Given the description of an element on the screen output the (x, y) to click on. 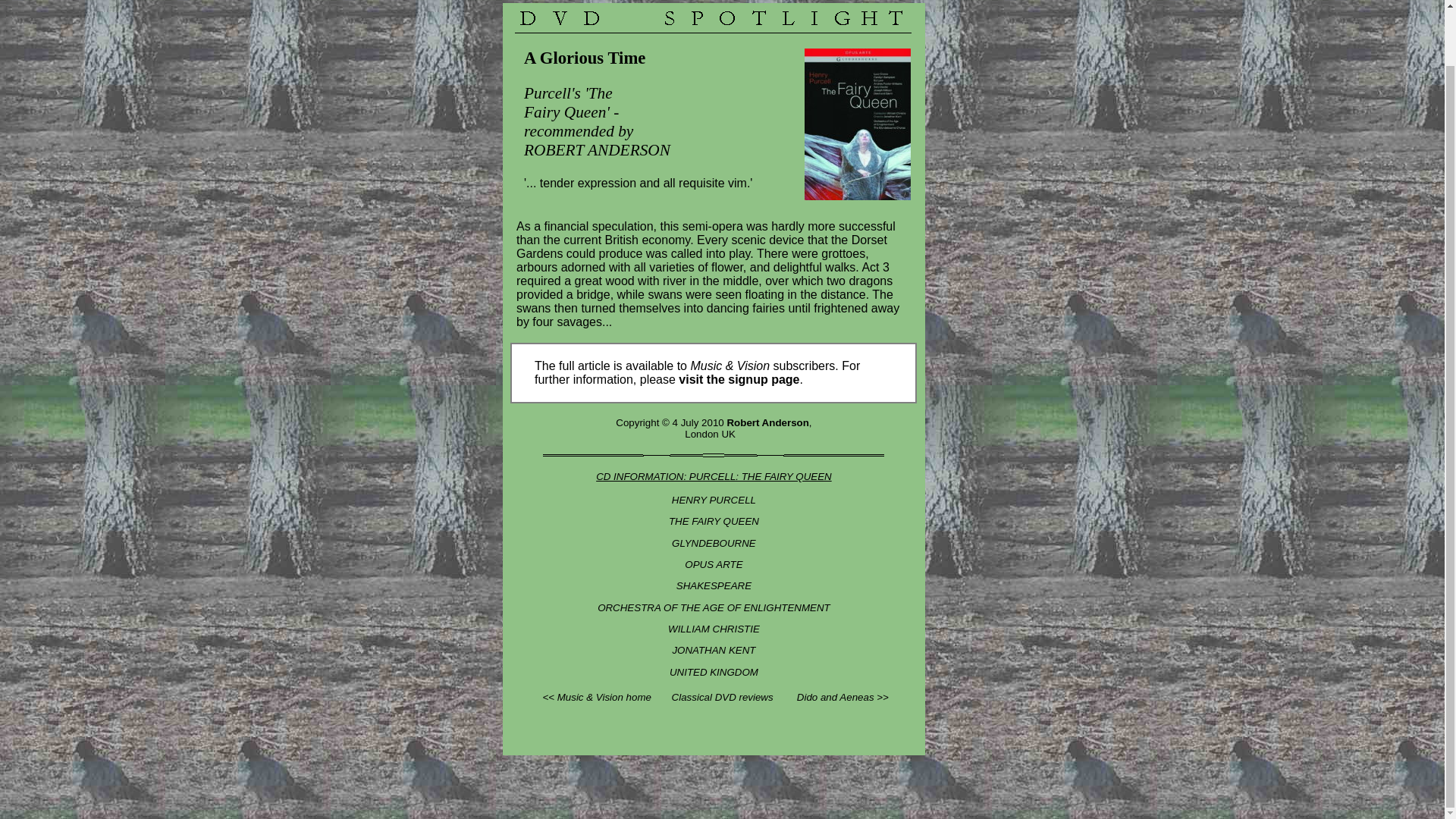
THE FAIRY QUEEN (713, 521)
JONATHAN KENT (713, 650)
Classical DVD reviews (722, 696)
dancing (727, 308)
UNITED KINGDOM (713, 672)
Robert Anderson (767, 422)
CD INFORMATION: PURCELL: THE FAIRY QUEEN (713, 476)
financial (565, 226)
GLYNDEBOURNE (713, 542)
river (673, 280)
